Given the description of an element on the screen output the (x, y) to click on. 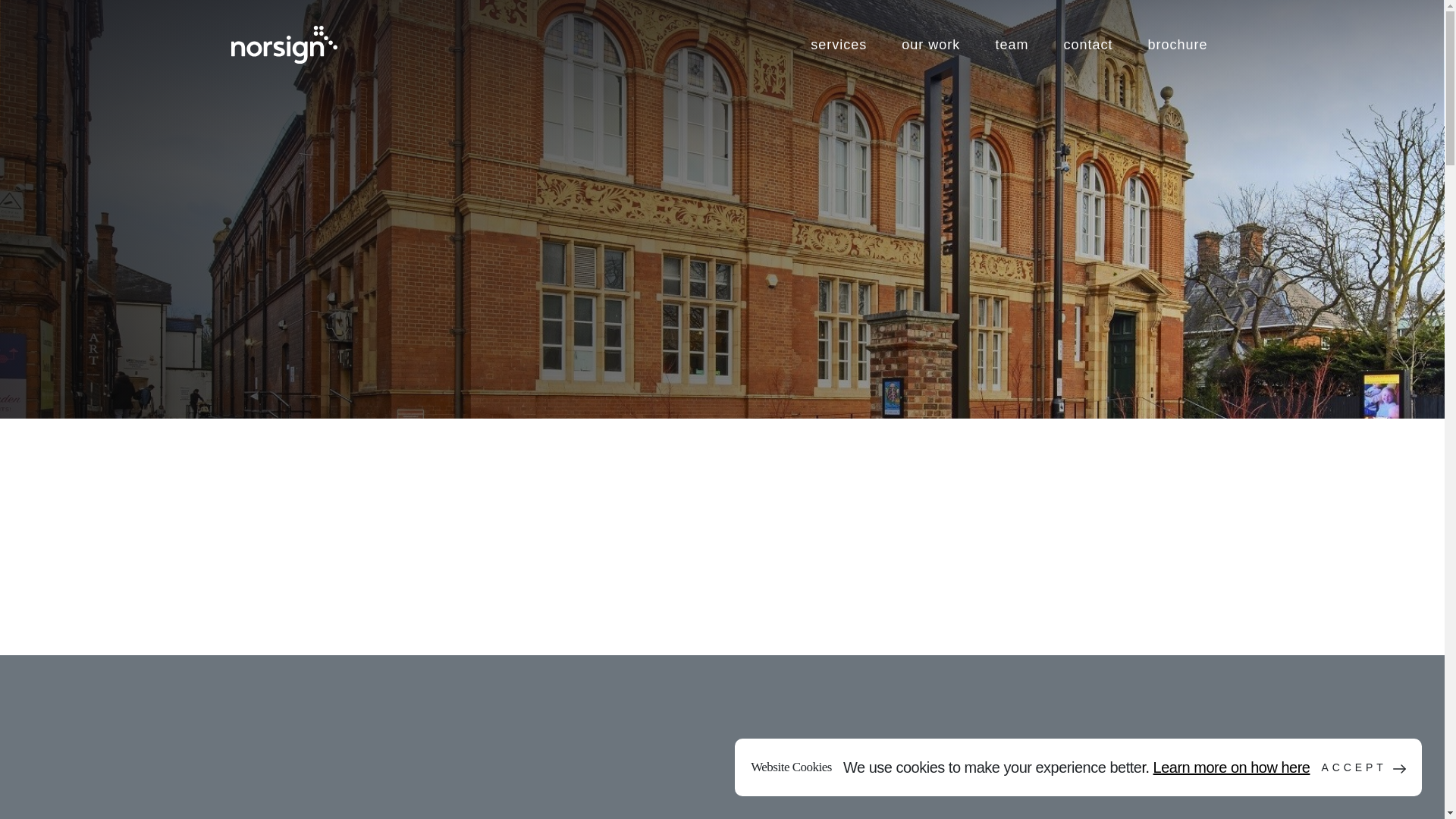
ACCEPT (1363, 767)
services (838, 44)
brochure (1176, 44)
contact (1087, 44)
Learn more on how here (1231, 767)
our work (930, 44)
Search (1159, 57)
services (838, 44)
contact (1087, 44)
our work (930, 44)
team (1010, 44)
team (1010, 44)
brochure (1176, 44)
